Given the description of an element on the screen output the (x, y) to click on. 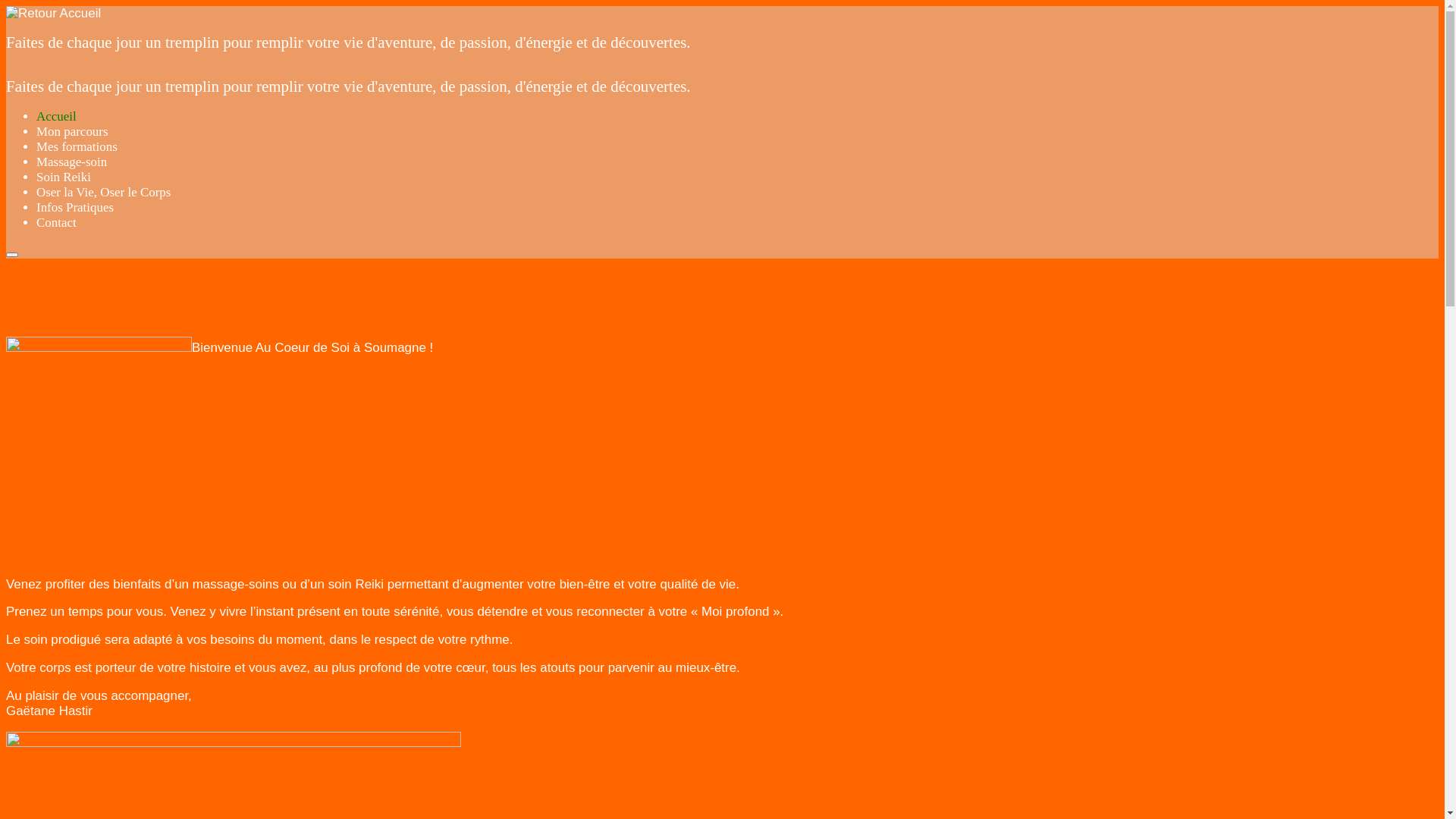
Ouvrir le menu Element type: hover (12, 254)
Skip to content Element type: text (5, 5)
Infos Pratiques Element type: text (74, 207)
Mon parcours Element type: text (72, 131)
Mes formations Element type: text (76, 146)
Accueil Element type: text (56, 116)
Contact Element type: text (56, 222)
Oser la Vie, Oser le Corps Element type: text (103, 192)
Soin Reiki Element type: text (63, 176)
Massage-soin Element type: text (71, 161)
